Given the description of an element on the screen output the (x, y) to click on. 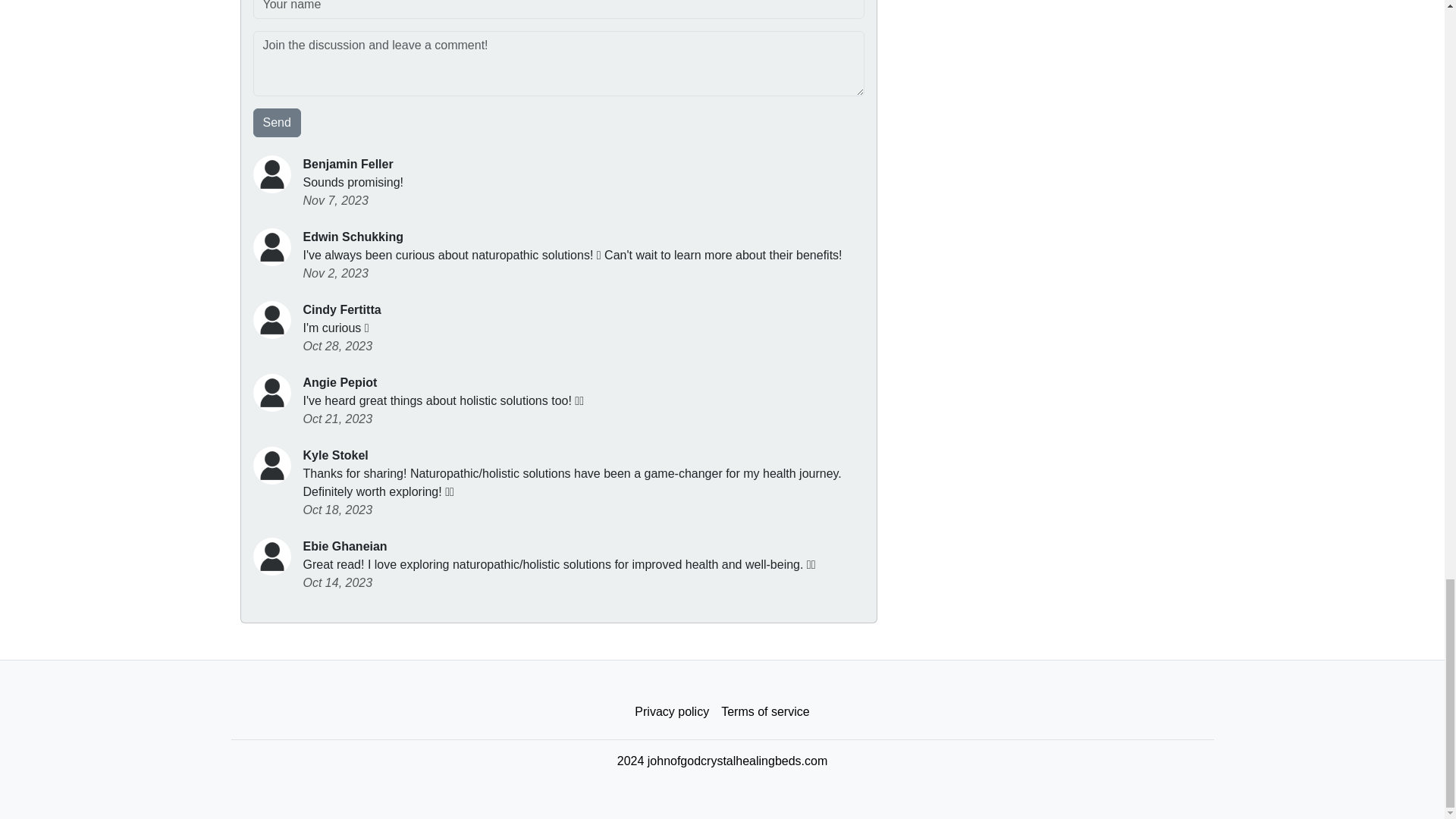
Send (277, 122)
Terms of service (764, 711)
Send (277, 122)
Privacy policy (671, 711)
